Given the description of an element on the screen output the (x, y) to click on. 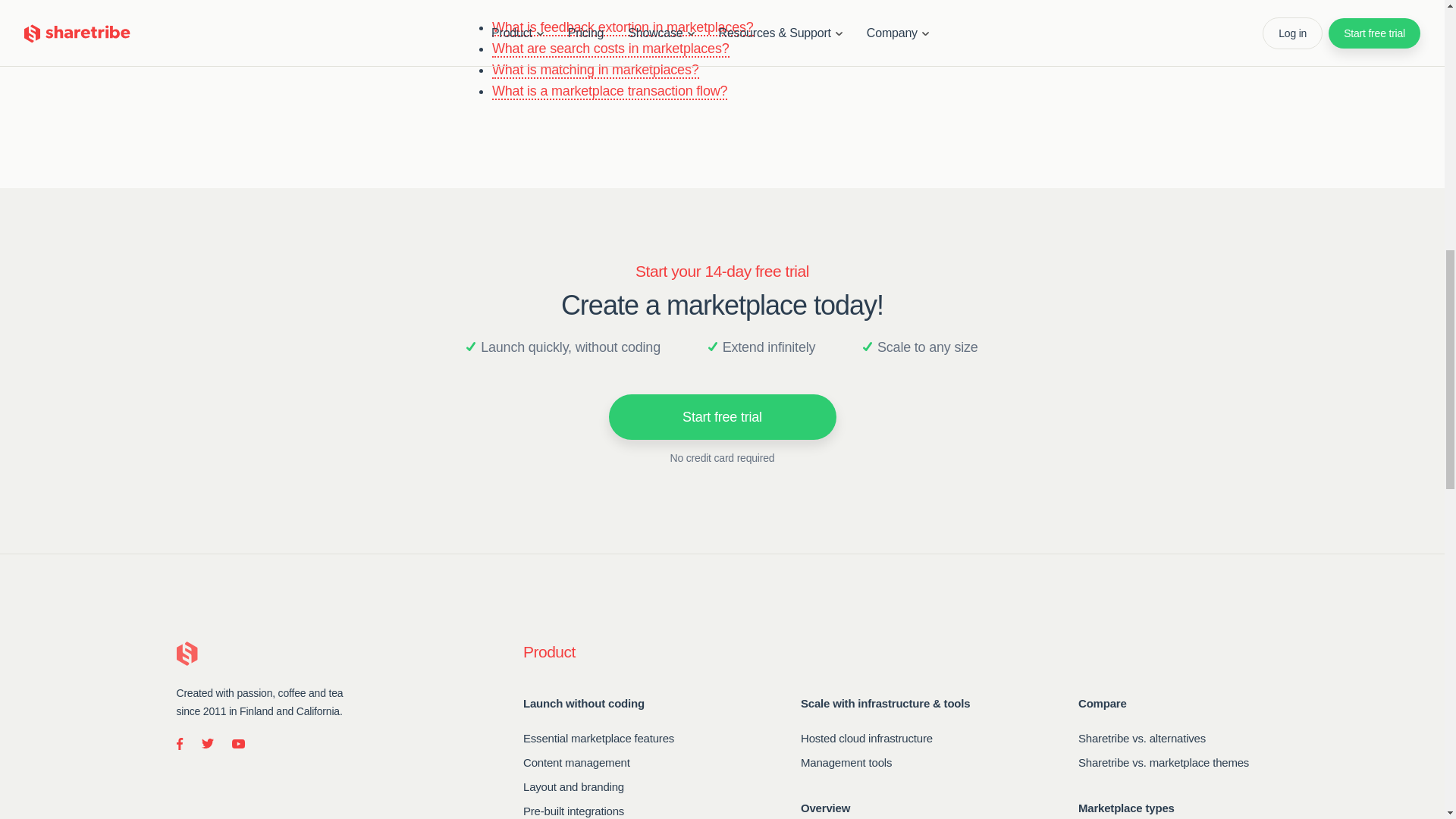
What is a marketplace transaction flow? (609, 91)
What is feedback extortion in marketplaces? (623, 27)
Layout and branding (573, 785)
Sharetribe vs. alternatives (1141, 737)
Content management (576, 762)
What is matching in marketplaces? (595, 70)
Management tools (845, 762)
Start free trial (721, 416)
What are search costs in marketplaces? (610, 48)
Hosted cloud infrastructure (866, 737)
